Given the description of an element on the screen output the (x, y) to click on. 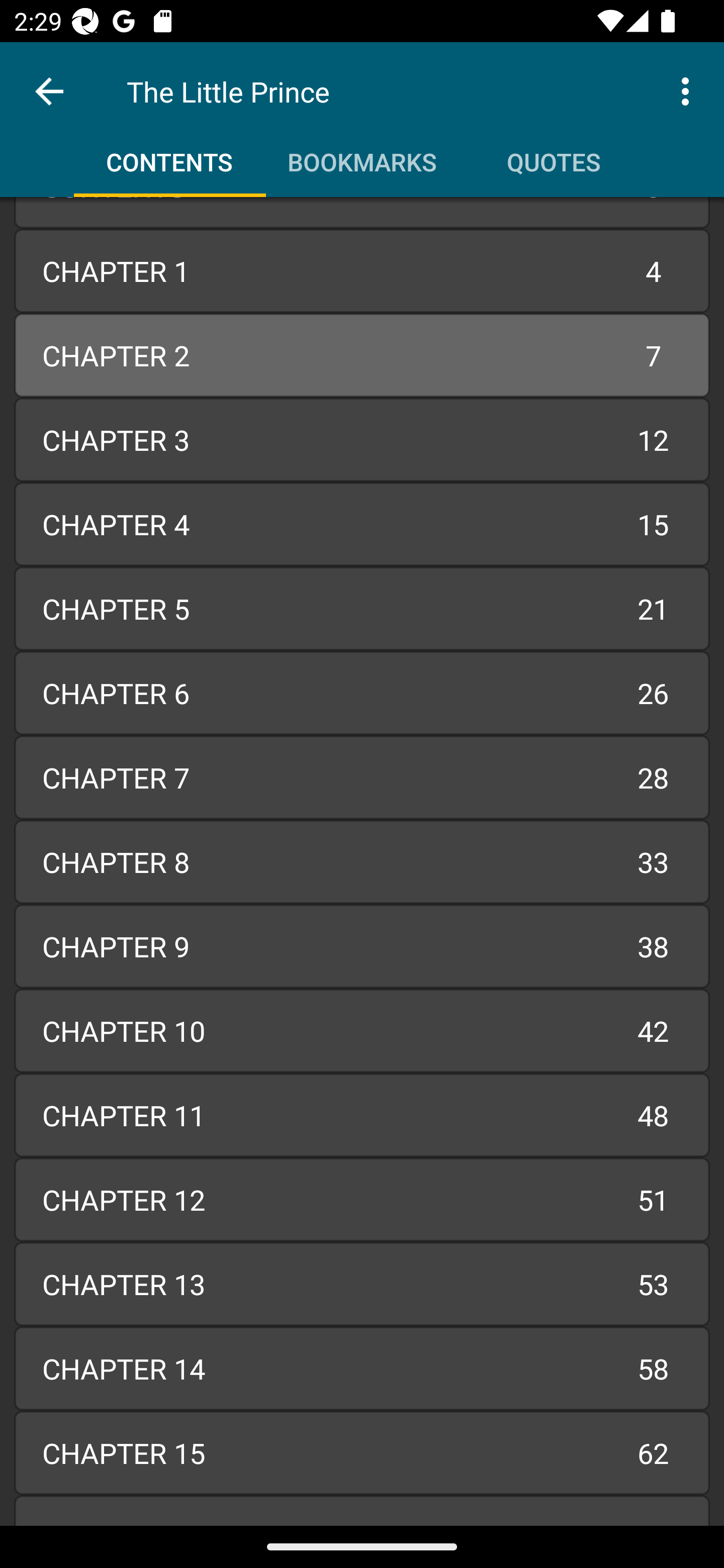
Back (49, 91)
More options (688, 90)
Bookmarks BOOKMARKS (361, 154)
Quotes QUOTES (554, 154)
CHAPTER 1 4 (361, 270)
CHAPTER 2 7 (361, 355)
CHAPTER 3 12 (361, 439)
CHAPTER 4 15 (361, 523)
CHAPTER 5 21 (361, 608)
CHAPTER 6 26 (361, 692)
CHAPTER 7 28 (361, 777)
CHAPTER 8 33 (361, 862)
CHAPTER 9 38 (361, 945)
CHAPTER 10 42 (361, 1029)
CHAPTER 11 48 (361, 1114)
CHAPTER 12 51 (361, 1199)
CHAPTER 13 53 (361, 1283)
CHAPTER 14 58 (361, 1368)
CHAPTER 15 62 (361, 1453)
